Given the description of an element on the screen output the (x, y) to click on. 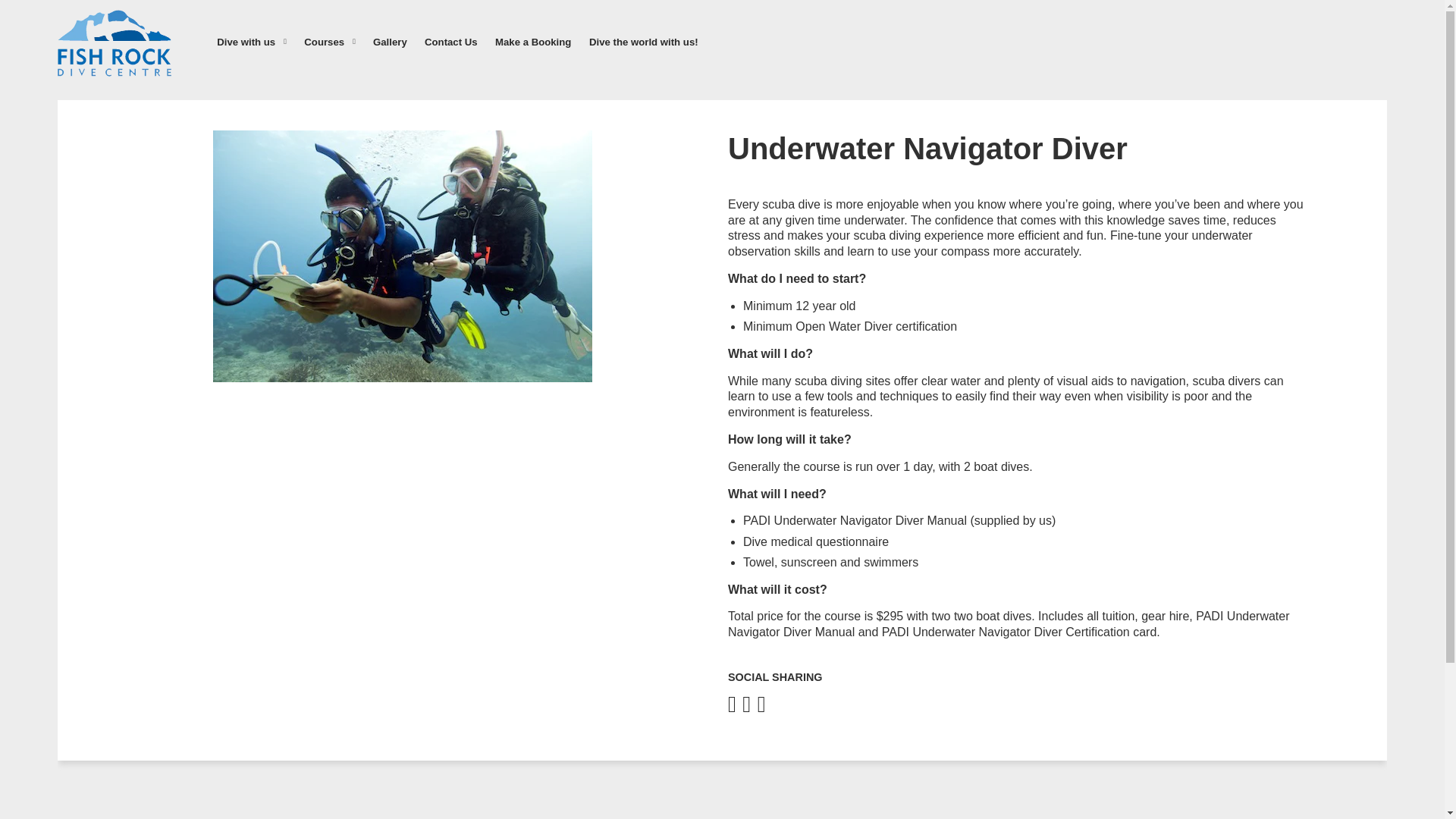
Dive with us (251, 41)
Contact Us (450, 41)
Courses (329, 41)
Gallery (389, 41)
Dive the world with us! (643, 41)
Make a Booking (532, 41)
